Given the description of an element on the screen output the (x, y) to click on. 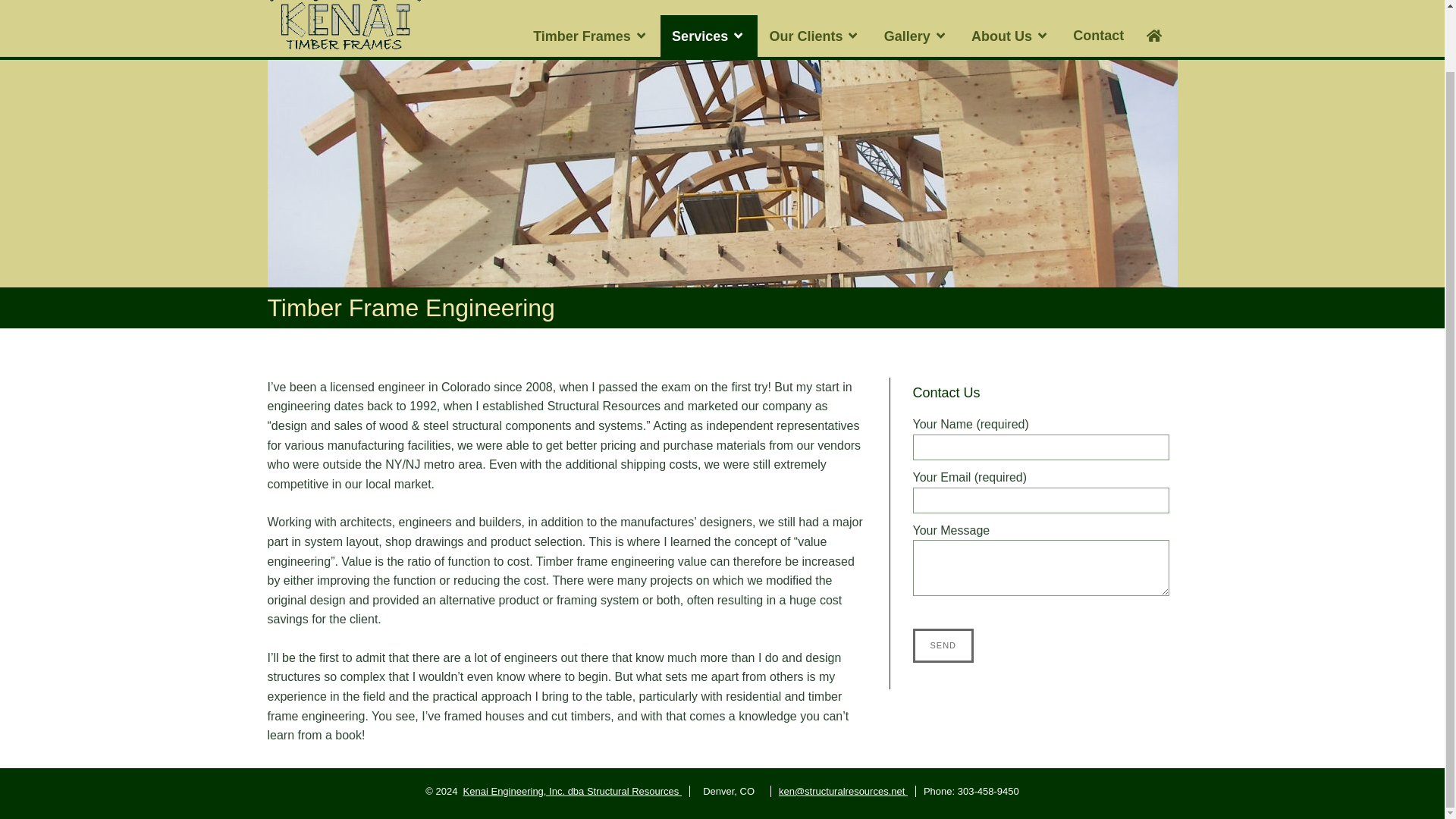
Timber Frames (591, 35)
Gallery (915, 35)
Contact (1098, 35)
Our Clients (814, 35)
Send (943, 645)
Send (943, 645)
Kenai Engineering, Inc. dba Structural Resources (572, 790)
About Us (1010, 35)
Services (709, 35)
